Given the description of an element on the screen output the (x, y) to click on. 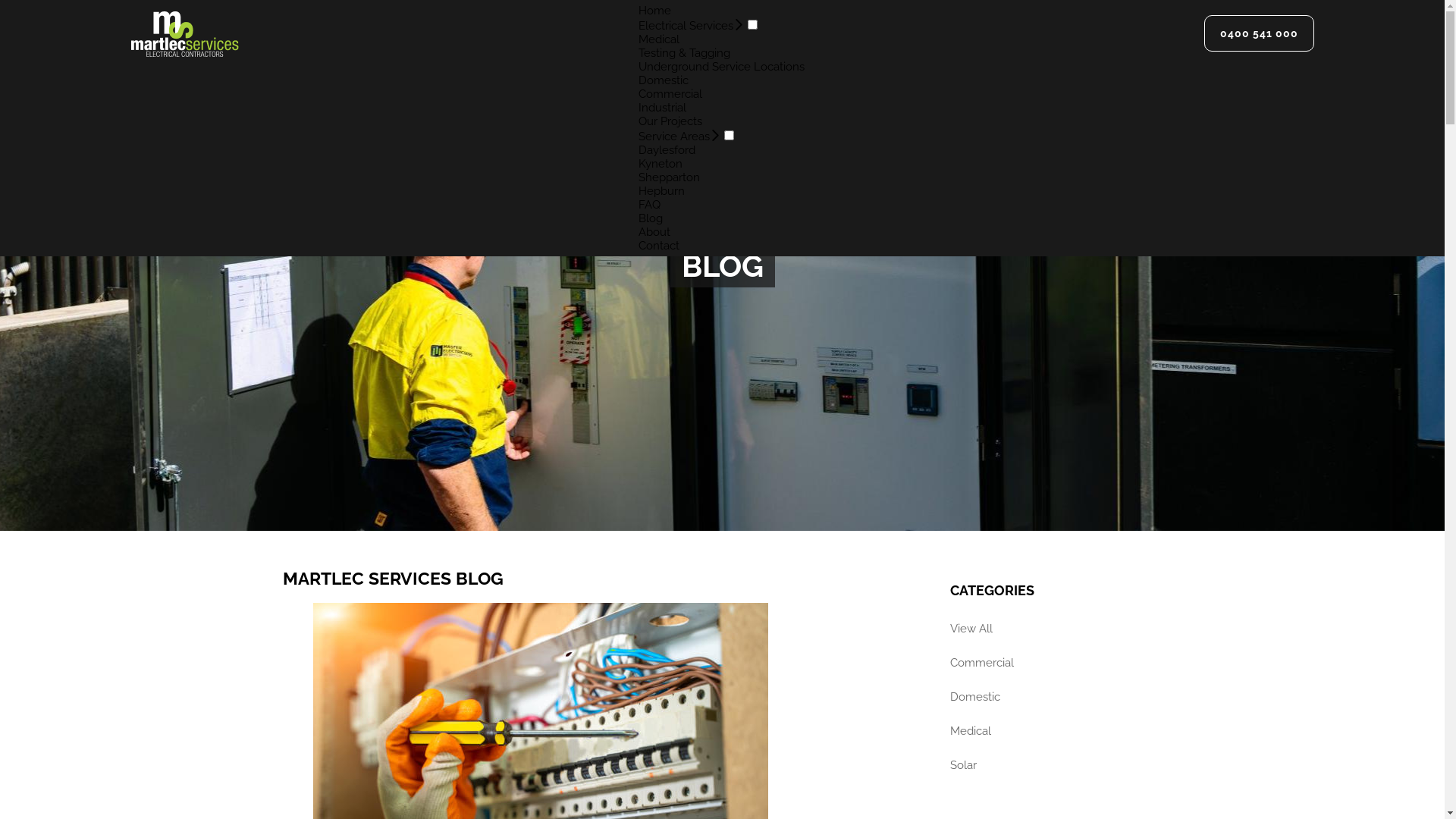
Electrical Services Element type: text (685, 25)
Home Element type: text (654, 10)
View All Element type: text (1055, 628)
Kyneton Element type: text (660, 163)
Solar Element type: text (1055, 765)
Blog Element type: text (650, 218)
Medical Element type: text (1055, 731)
Underground Service Locations Element type: text (721, 66)
Service Areas Element type: text (673, 136)
Shepparton Element type: text (668, 177)
Contact Element type: text (658, 245)
Our Projects Element type: text (670, 121)
Commercial Element type: text (670, 93)
FAQ Element type: text (649, 204)
Medical Element type: text (658, 39)
Daylesford Element type: text (666, 149)
Commercial Element type: text (1055, 663)
Testing & Tagging Element type: text (684, 52)
Domestic Element type: text (663, 80)
About Element type: text (654, 231)
Industrial Element type: text (662, 107)
0400 541 000 Element type: text (1258, 33)
Hepburn Element type: text (661, 190)
Domestic Element type: text (1055, 697)
